Given the description of an element on the screen output the (x, y) to click on. 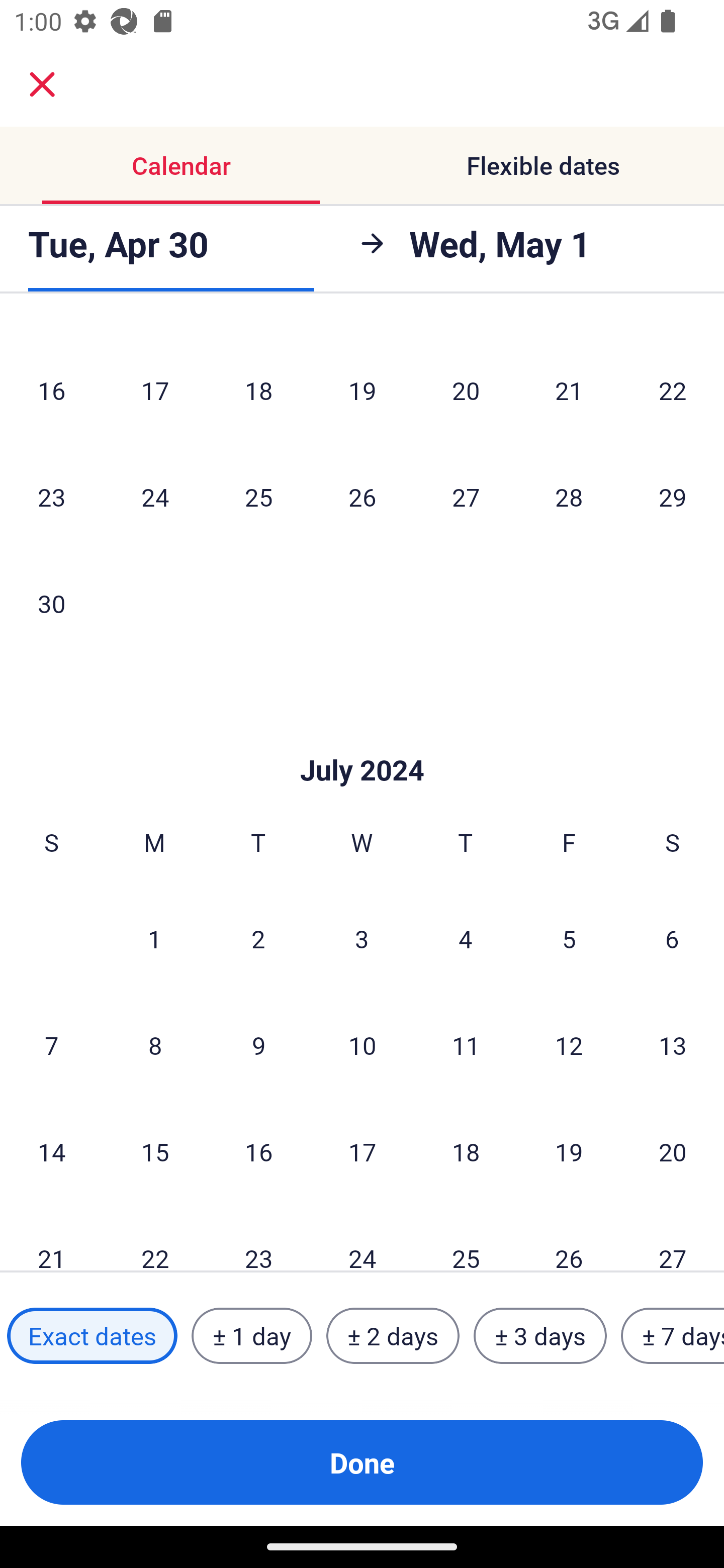
close. (42, 84)
Flexible dates (542, 164)
16 Sunday, June 16, 2024 (51, 390)
17 Monday, June 17, 2024 (155, 390)
18 Tuesday, June 18, 2024 (258, 390)
19 Wednesday, June 19, 2024 (362, 390)
20 Thursday, June 20, 2024 (465, 390)
21 Friday, June 21, 2024 (569, 390)
22 Saturday, June 22, 2024 (672, 390)
23 Sunday, June 23, 2024 (51, 496)
24 Monday, June 24, 2024 (155, 496)
25 Tuesday, June 25, 2024 (258, 496)
26 Wednesday, June 26, 2024 (362, 496)
27 Thursday, June 27, 2024 (465, 496)
28 Friday, June 28, 2024 (569, 496)
29 Saturday, June 29, 2024 (672, 496)
30 Sunday, June 30, 2024 (51, 603)
Skip to Done (362, 739)
1 Monday, July 1, 2024 (154, 938)
2 Tuesday, July 2, 2024 (257, 938)
3 Wednesday, July 3, 2024 (361, 938)
4 Thursday, July 4, 2024 (465, 938)
5 Friday, July 5, 2024 (568, 938)
6 Saturday, July 6, 2024 (672, 938)
7 Sunday, July 7, 2024 (51, 1045)
8 Monday, July 8, 2024 (155, 1045)
9 Tuesday, July 9, 2024 (258, 1045)
10 Wednesday, July 10, 2024 (362, 1045)
11 Thursday, July 11, 2024 (465, 1045)
12 Friday, July 12, 2024 (569, 1045)
13 Saturday, July 13, 2024 (672, 1045)
14 Sunday, July 14, 2024 (51, 1151)
15 Monday, July 15, 2024 (155, 1151)
16 Tuesday, July 16, 2024 (258, 1151)
17 Wednesday, July 17, 2024 (362, 1151)
18 Thursday, July 18, 2024 (465, 1151)
19 Friday, July 19, 2024 (569, 1151)
20 Saturday, July 20, 2024 (672, 1151)
21 Sunday, July 21, 2024 (51, 1238)
22 Monday, July 22, 2024 (155, 1238)
23 Tuesday, July 23, 2024 (258, 1238)
24 Wednesday, July 24, 2024 (362, 1238)
25 Thursday, July 25, 2024 (465, 1238)
26 Friday, July 26, 2024 (569, 1238)
27 Saturday, July 27, 2024 (672, 1238)
Exact dates (92, 1335)
± 1 day (251, 1335)
± 2 days (392, 1335)
± 3 days (539, 1335)
± 7 days (672, 1335)
Done (361, 1462)
